Given the description of an element on the screen output the (x, y) to click on. 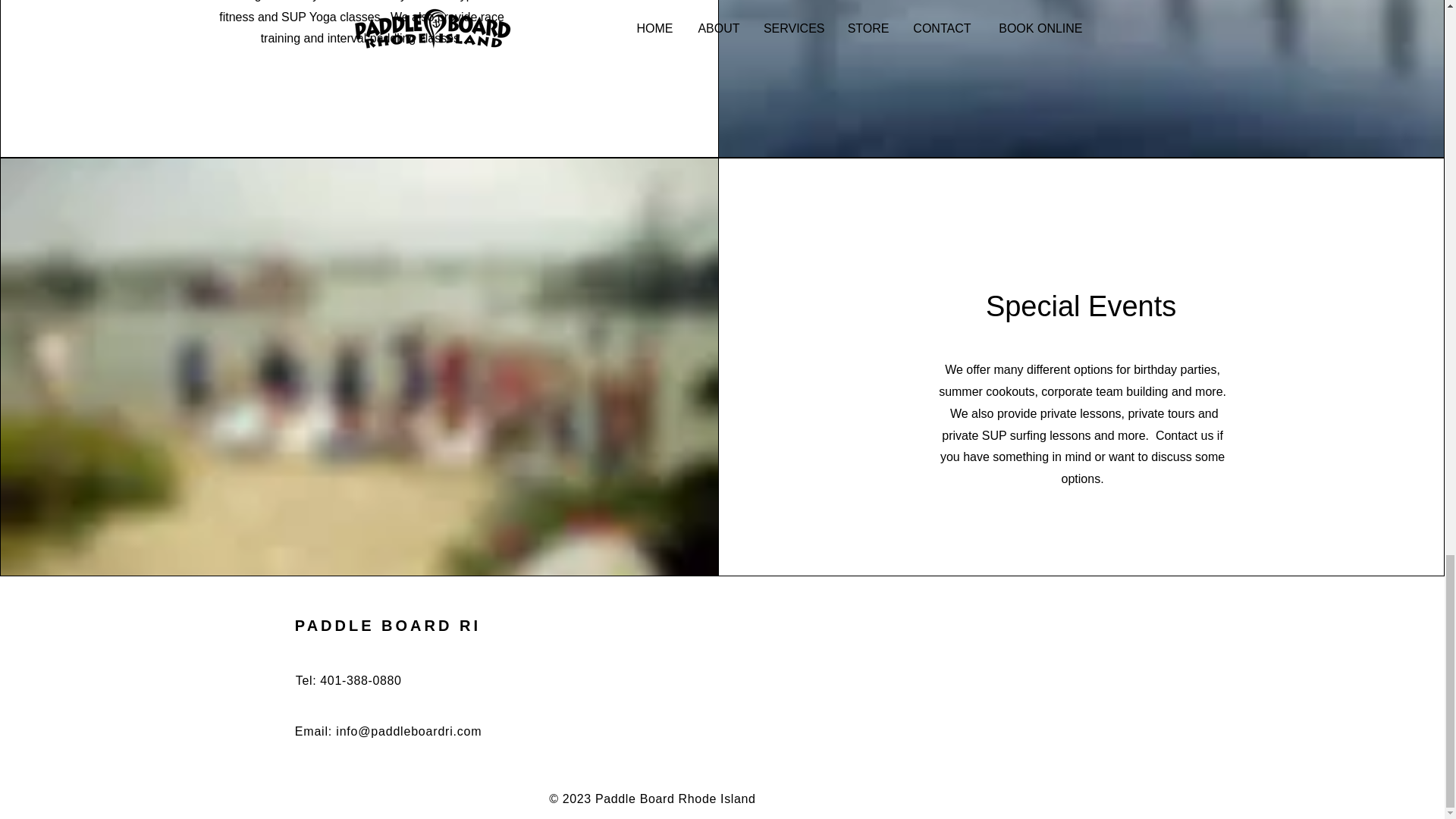
PADDLE BOARD RI (387, 625)
